Given the description of an element on the screen output the (x, y) to click on. 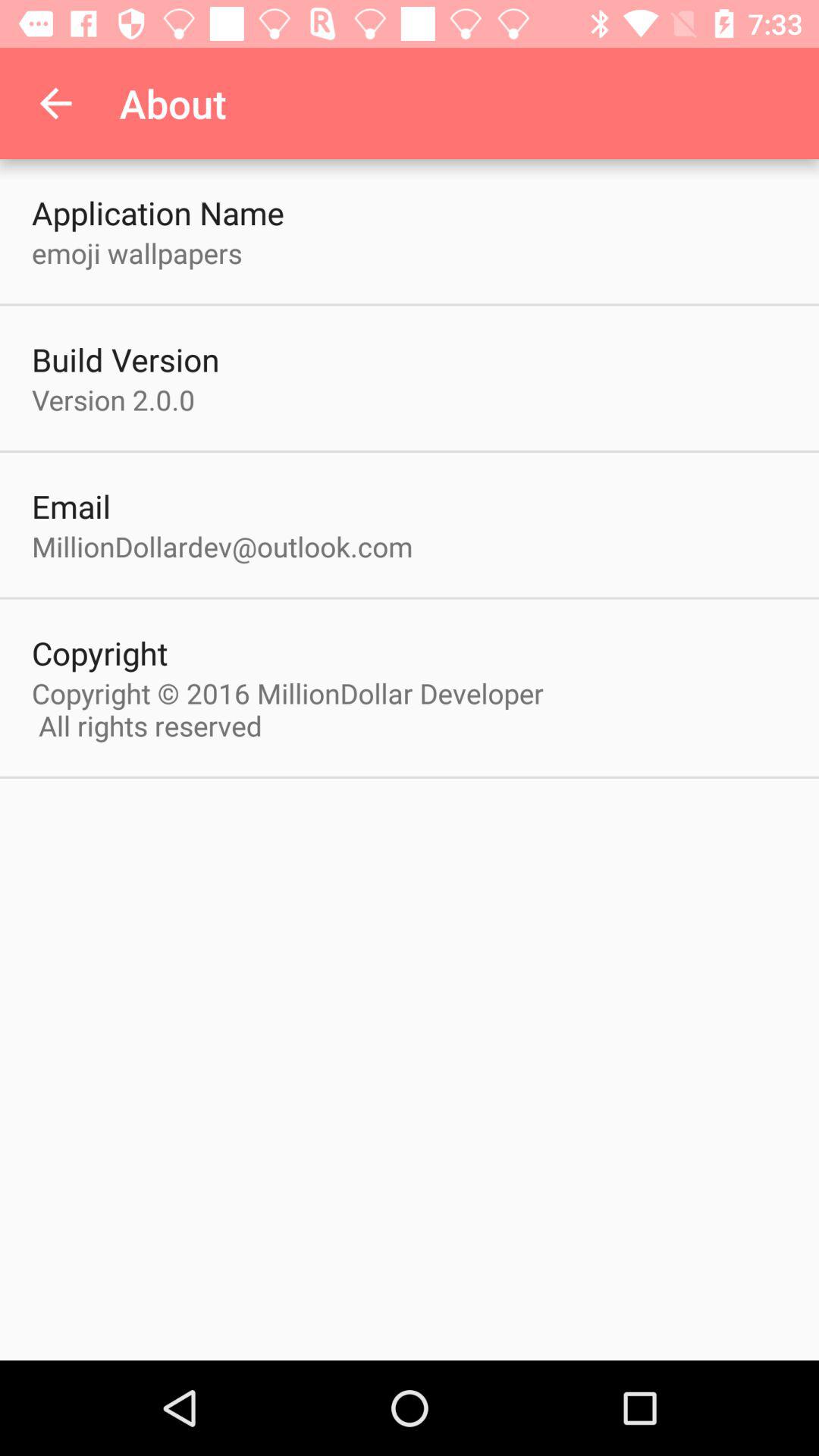
flip until milliondollardev@outlook.com (221, 546)
